Given the description of an element on the screen output the (x, y) to click on. 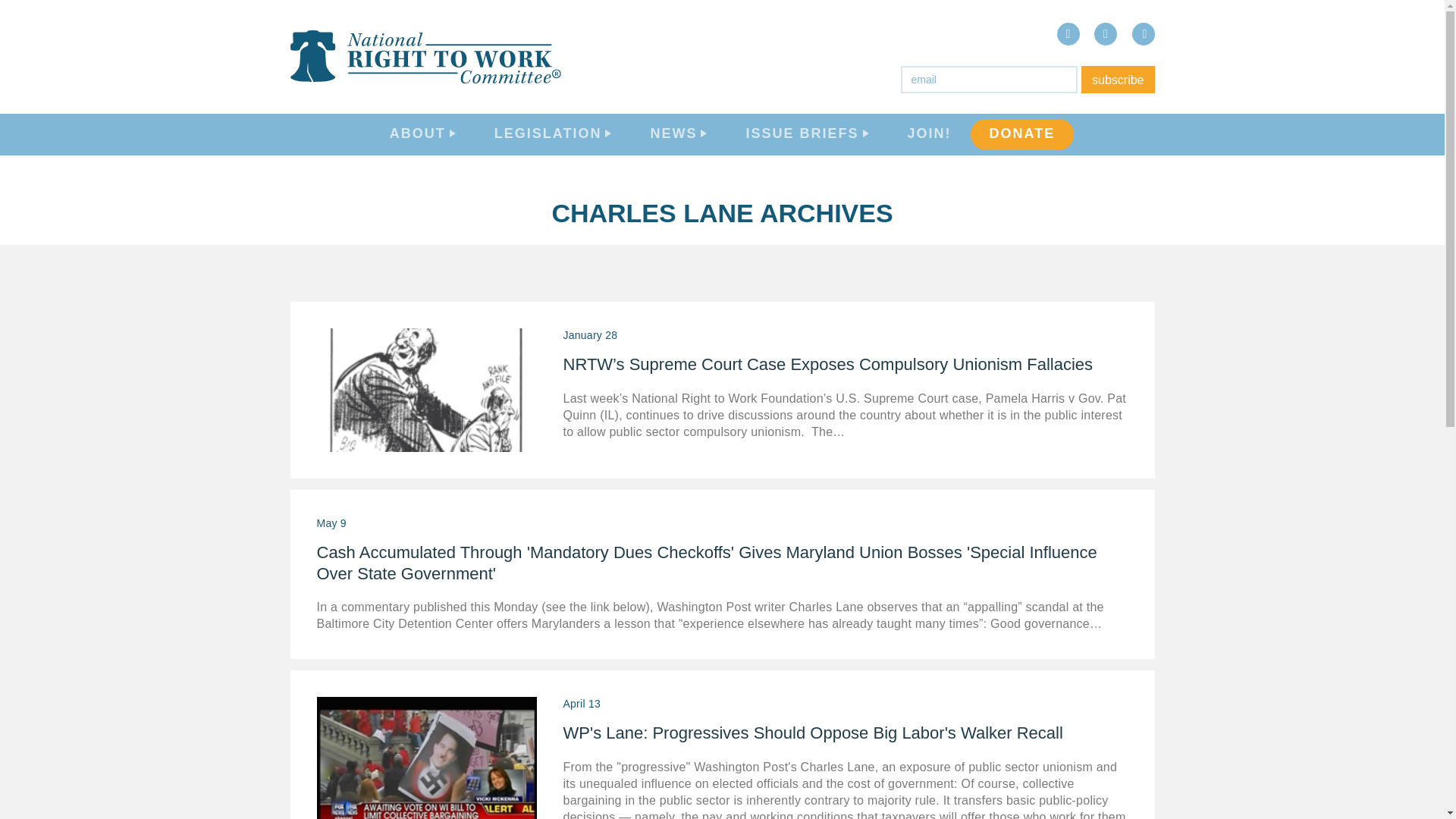
STATE LEGISLATION (1328, 435)
ABOUT (1275, 146)
YouTube (1142, 33)
SIGN OUR PETITION! (1330, 322)
Facebook (1068, 33)
CONTACT US (1299, 292)
NRTWC on Facebook (1068, 33)
DONATE (1022, 134)
NEWSLETTER (1301, 616)
NRTWC on Twitter (1105, 33)
